Given the description of an element on the screen output the (x, y) to click on. 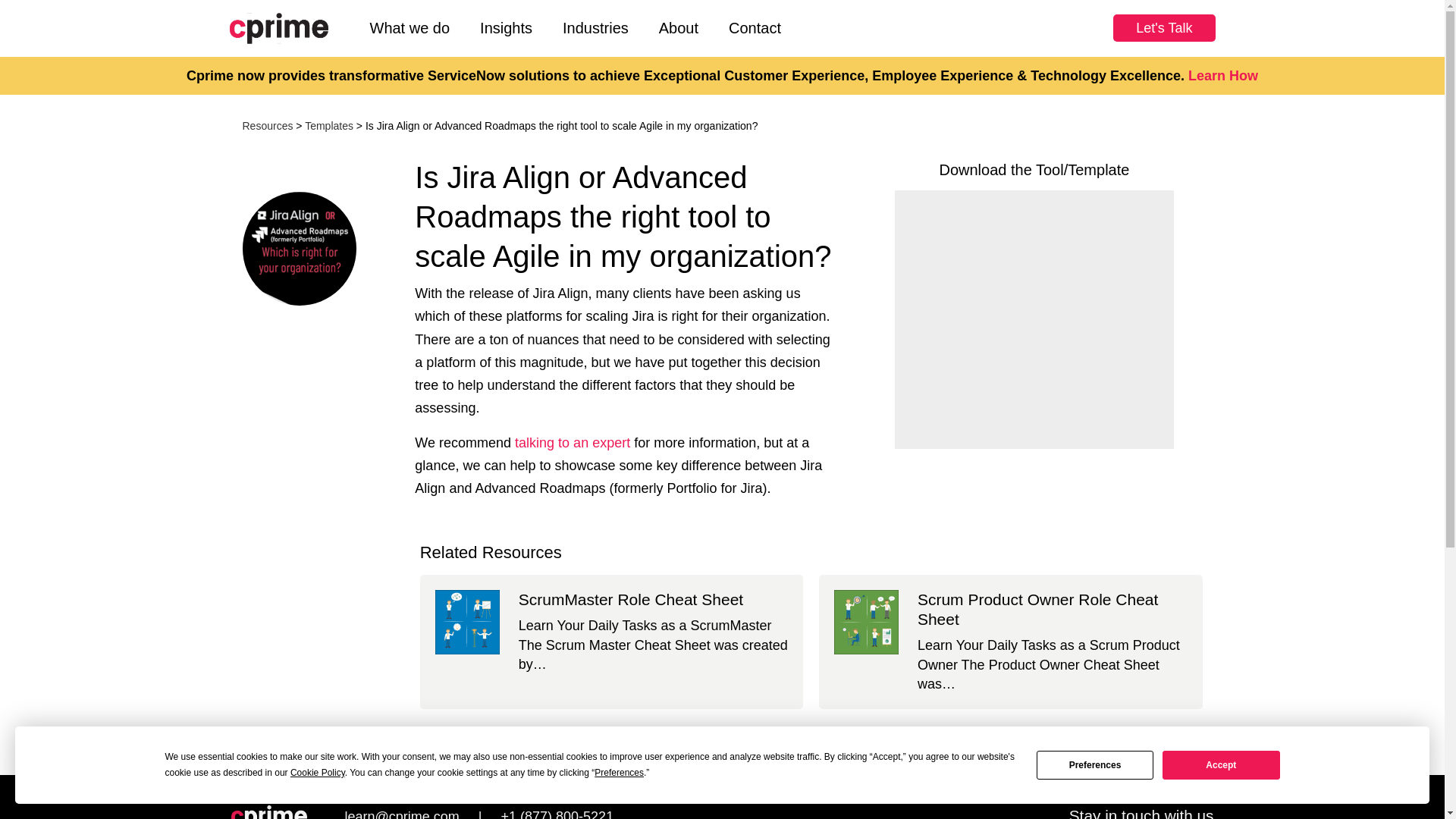
Industries (595, 28)
Accept (1220, 764)
Let's Talk (1163, 27)
Learn How (1222, 75)
Contact (754, 28)
What we do (410, 28)
Insights (505, 28)
About (678, 28)
Preferences (1094, 764)
Cprime (267, 812)
